Given the description of an element on the screen output the (x, y) to click on. 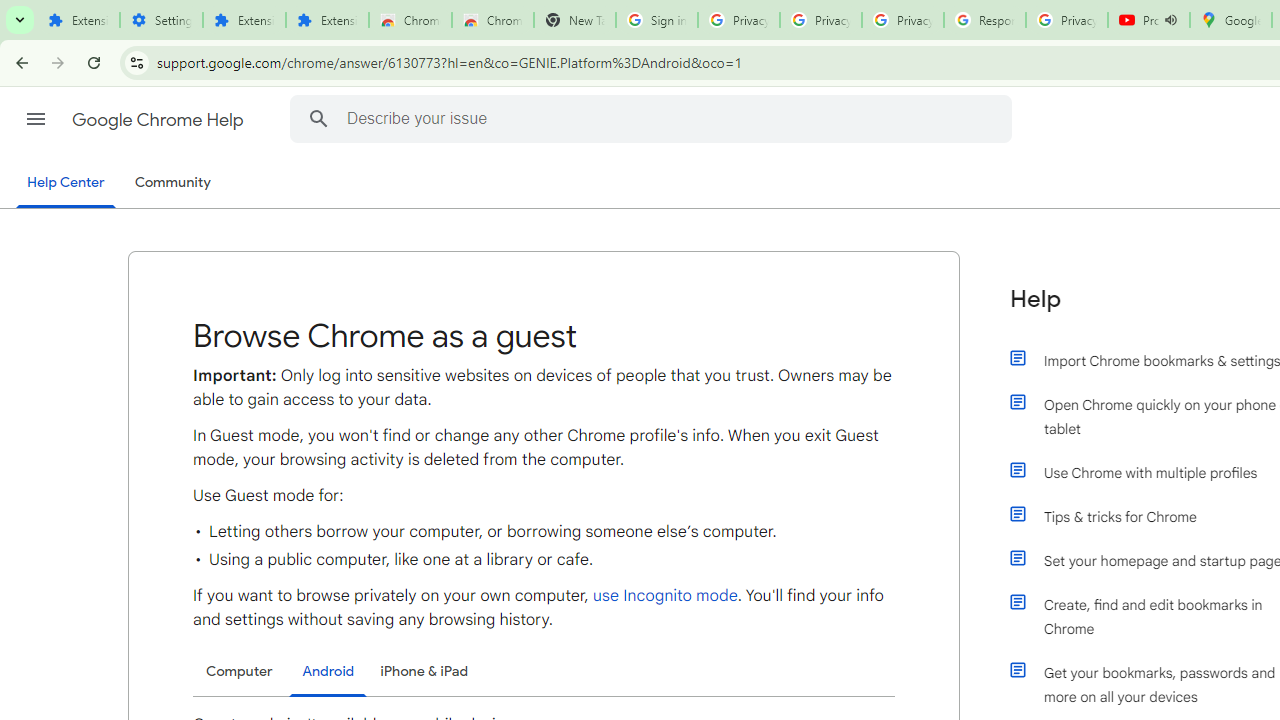
Help Center (65, 183)
Community (171, 183)
Sign in - Google Accounts (656, 20)
Extensions (326, 20)
Extensions (78, 20)
Search Help Center (318, 118)
Main menu (35, 119)
Android (328, 672)
